Given the description of an element on the screen output the (x, y) to click on. 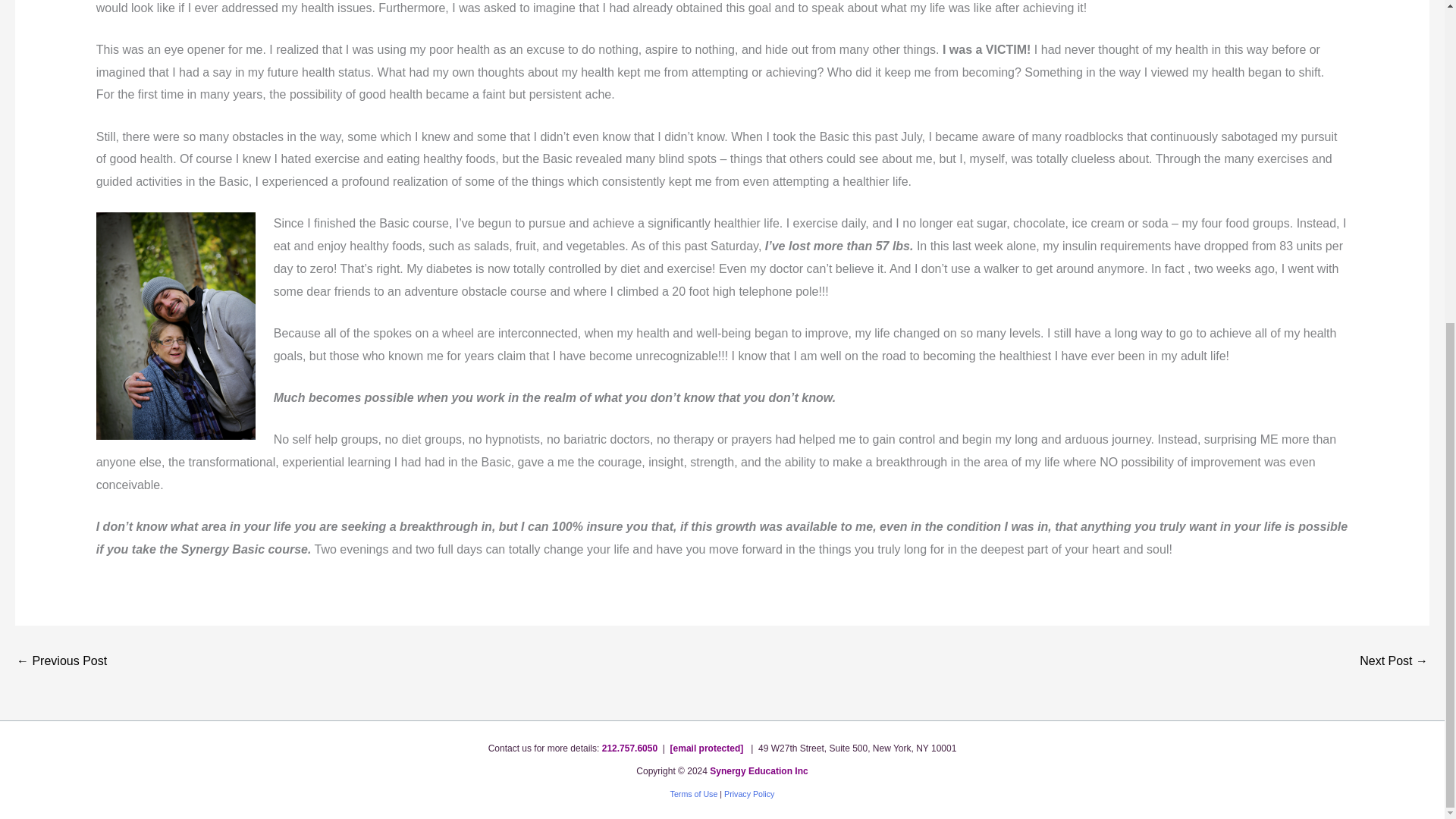
Working toward peace in the Middle East (61, 661)
Believing in Myself (1393, 661)
